Given the description of an element on the screen output the (x, y) to click on. 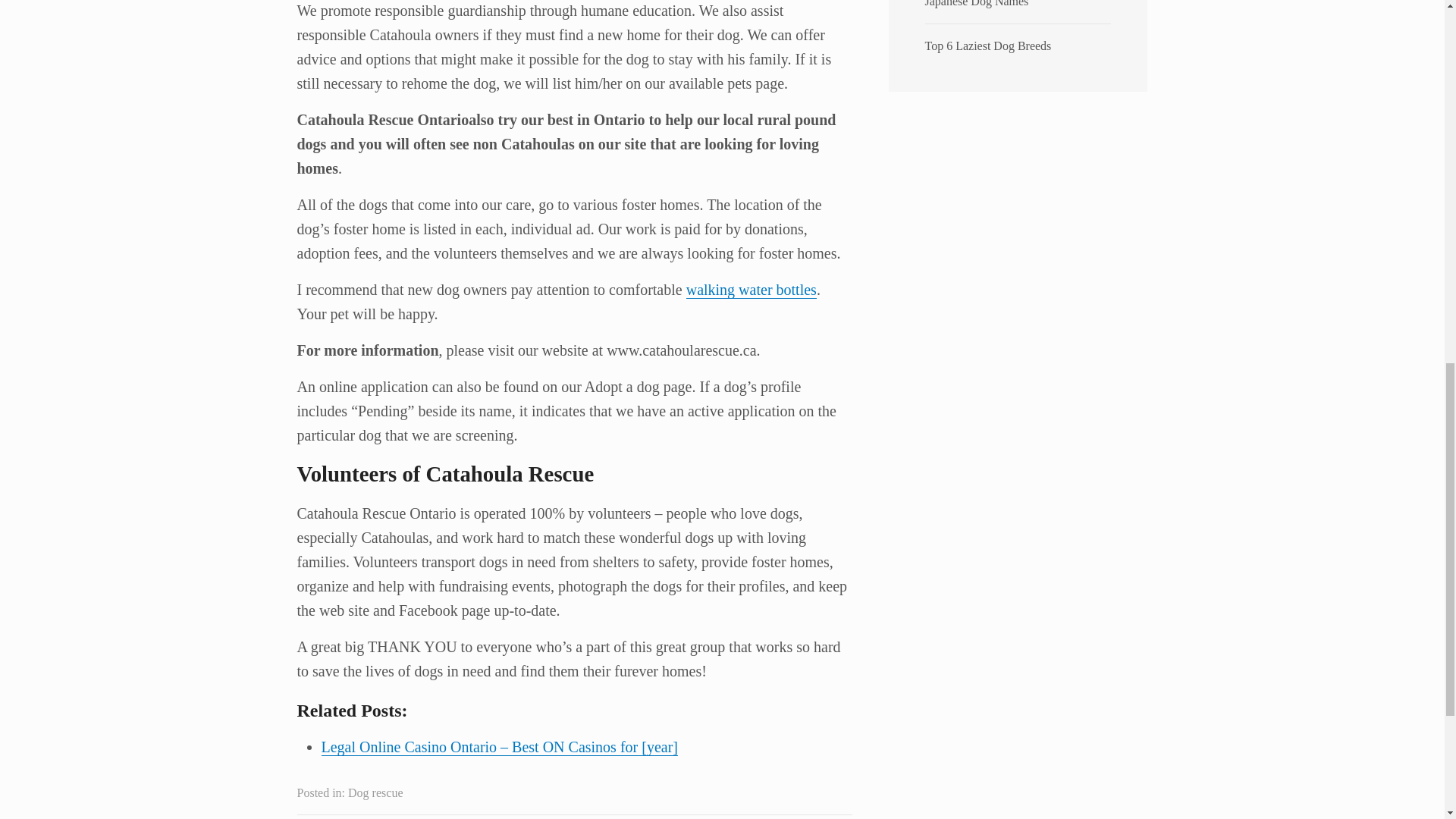
walking water bottles (750, 289)
Top 6 Laziest Dog Breeds (987, 45)
Japanese Dog Names (976, 3)
Dog rescue (375, 792)
